Given the description of an element on the screen output the (x, y) to click on. 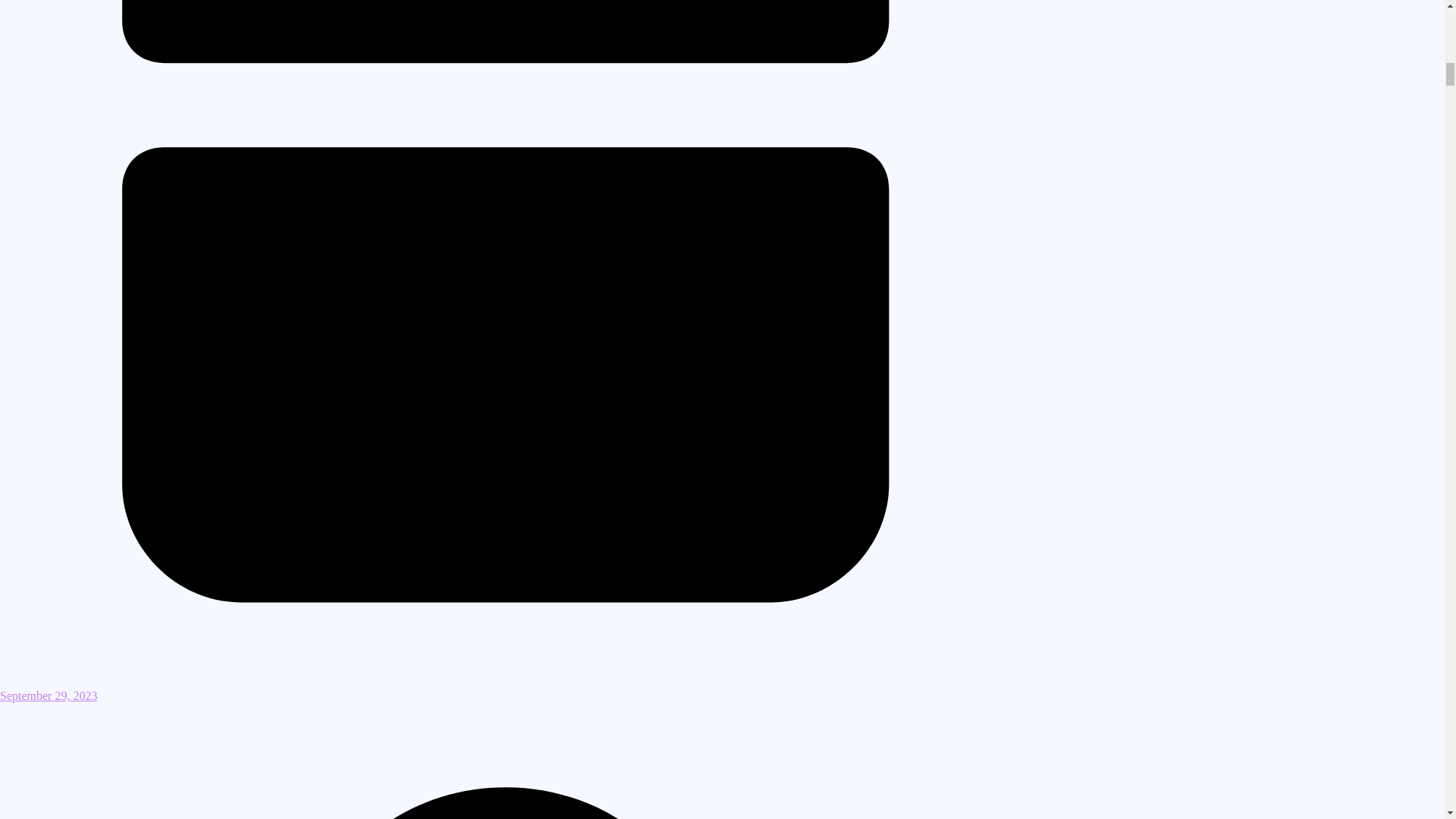
4:16 pm (505, 688)
September 29, 2023 (505, 688)
